Given the description of an element on the screen output the (x, y) to click on. 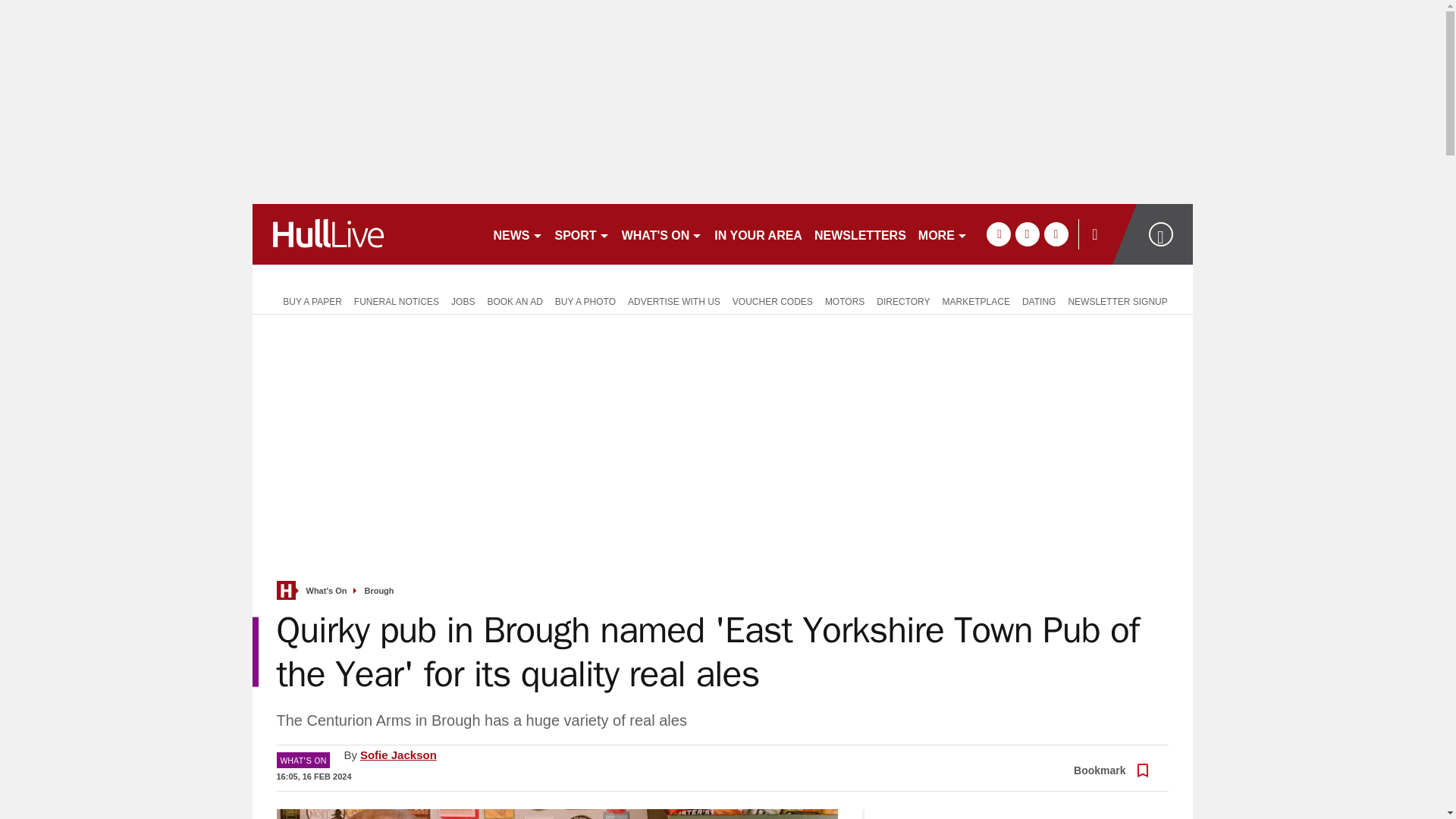
NEWSLETTERS (860, 233)
instagram (1055, 233)
hulldailymail (365, 233)
WHAT'S ON (662, 233)
Twitter (1104, 758)
NEWS (517, 233)
SPORT (581, 233)
twitter (1026, 233)
Facebook (1068, 758)
IN YOUR AREA (757, 233)
MORE (943, 233)
facebook (997, 233)
